Given the description of an element on the screen output the (x, y) to click on. 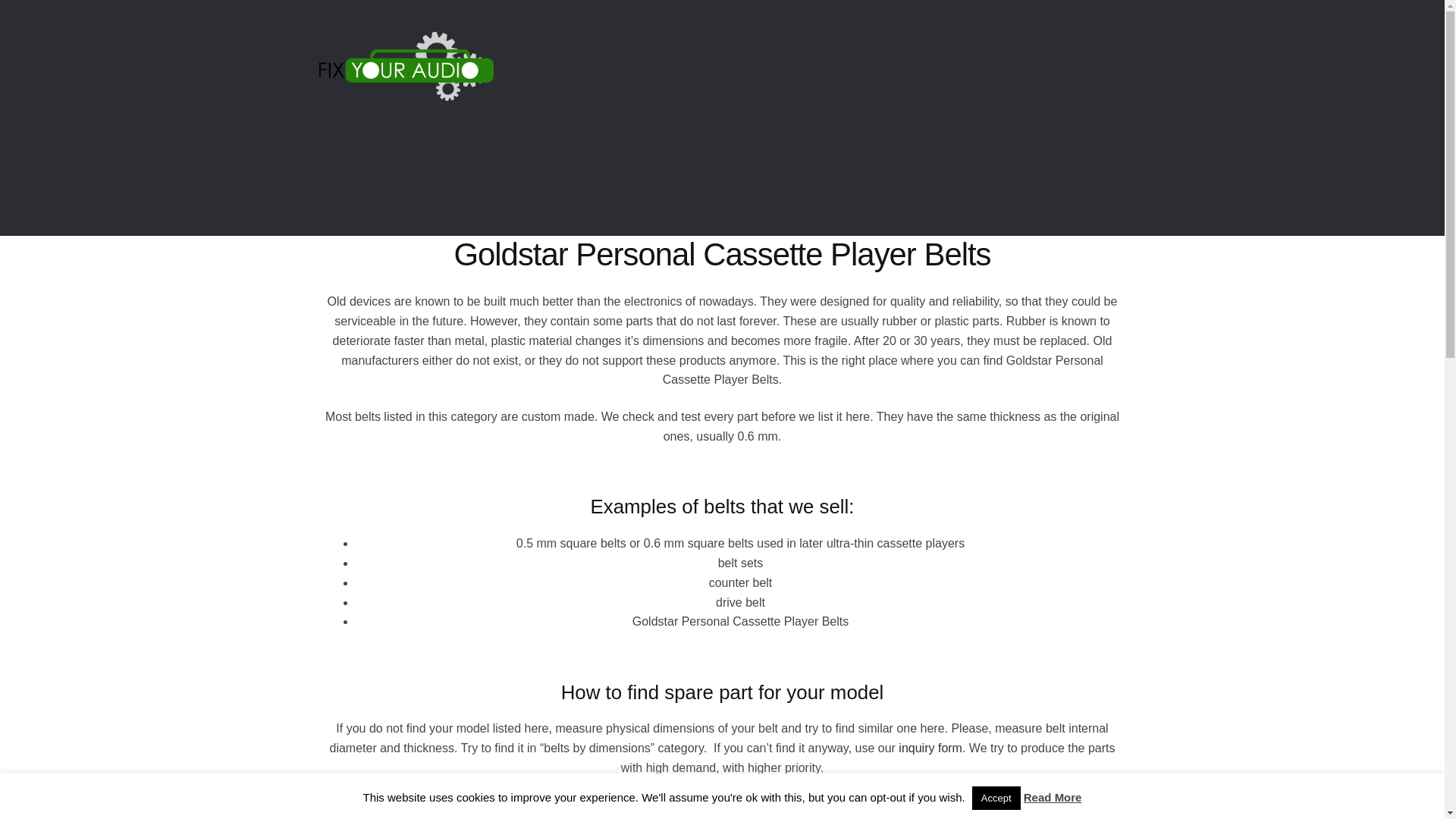
Shop (400, 146)
Home (335, 146)
View your shopping cart (1037, 146)
